Given the description of an element on the screen output the (x, y) to click on. 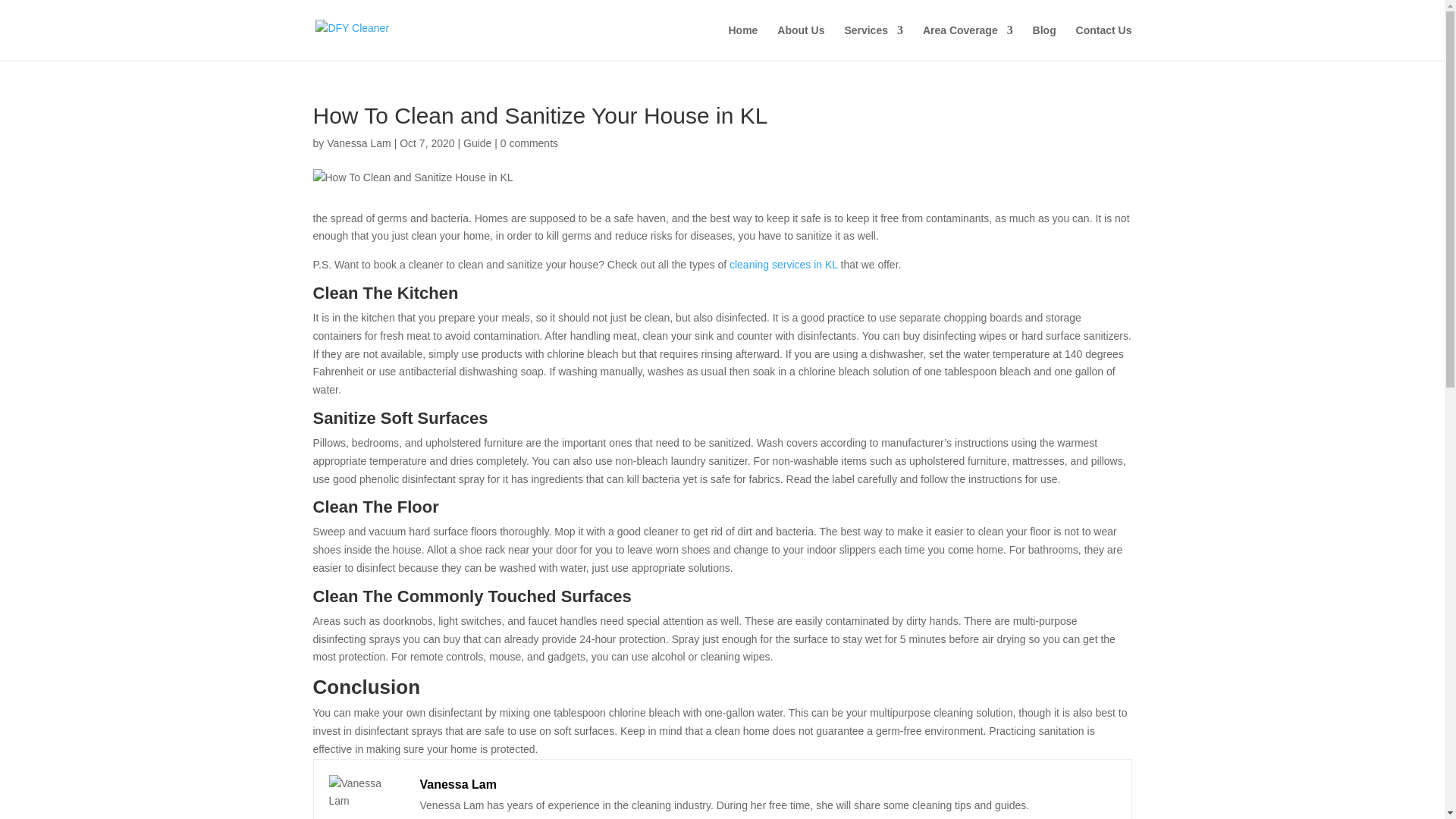
cleaning services in KL (783, 264)
About Us (800, 42)
Area Coverage (968, 42)
0 comments (528, 143)
Vanessa Lam (358, 143)
Posts by Vanessa Lam (358, 143)
Services (873, 42)
Contact Us (1103, 42)
Guide (477, 143)
Vanessa Lam (458, 783)
